Given the description of an element on the screen output the (x, y) to click on. 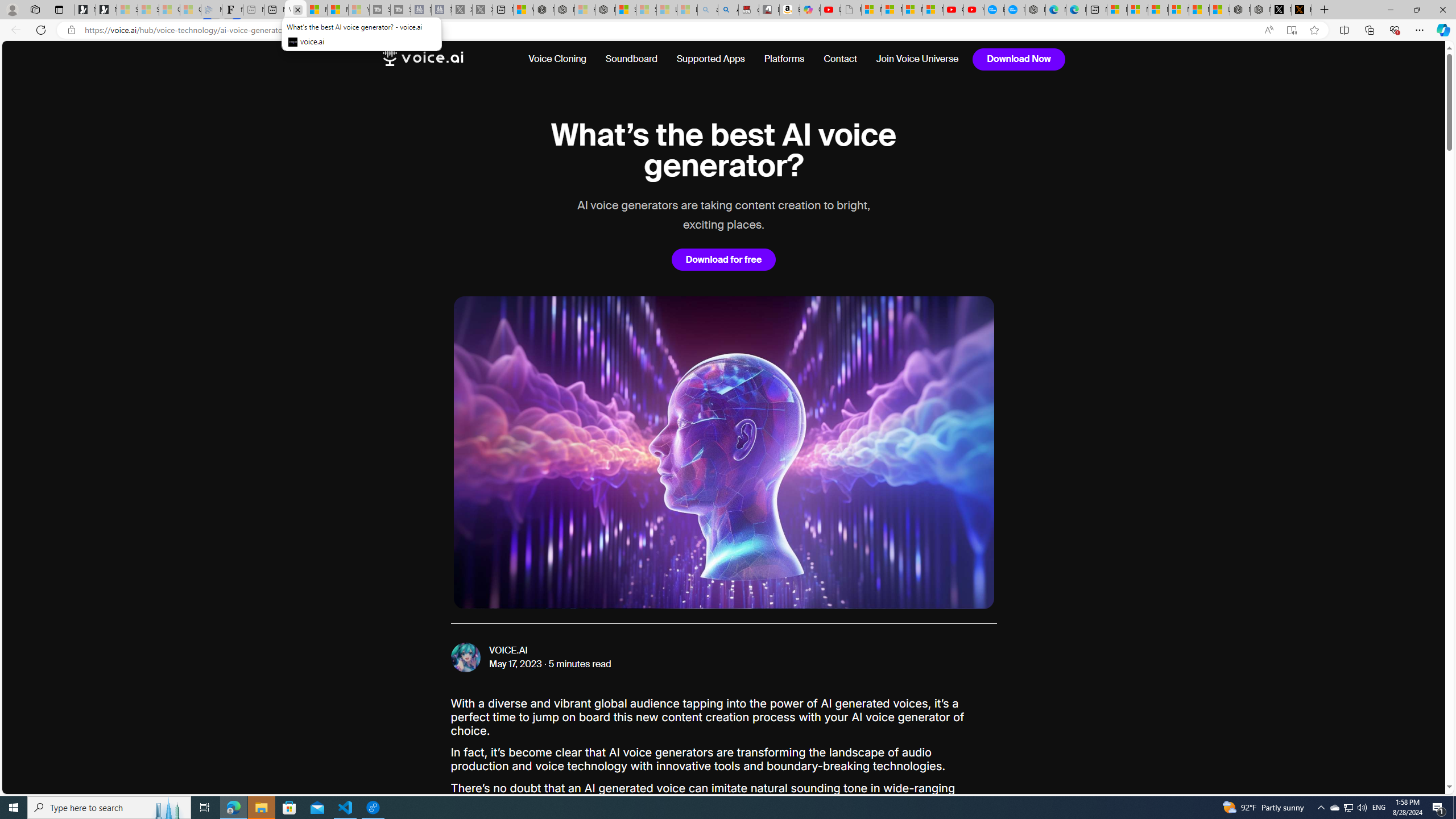
Copilot (809, 9)
Enter Immersive Reader (F9) (1291, 29)
Soundboard (631, 59)
amazon - Search - Sleeping (707, 9)
